Given the description of an element on the screen output the (x, y) to click on. 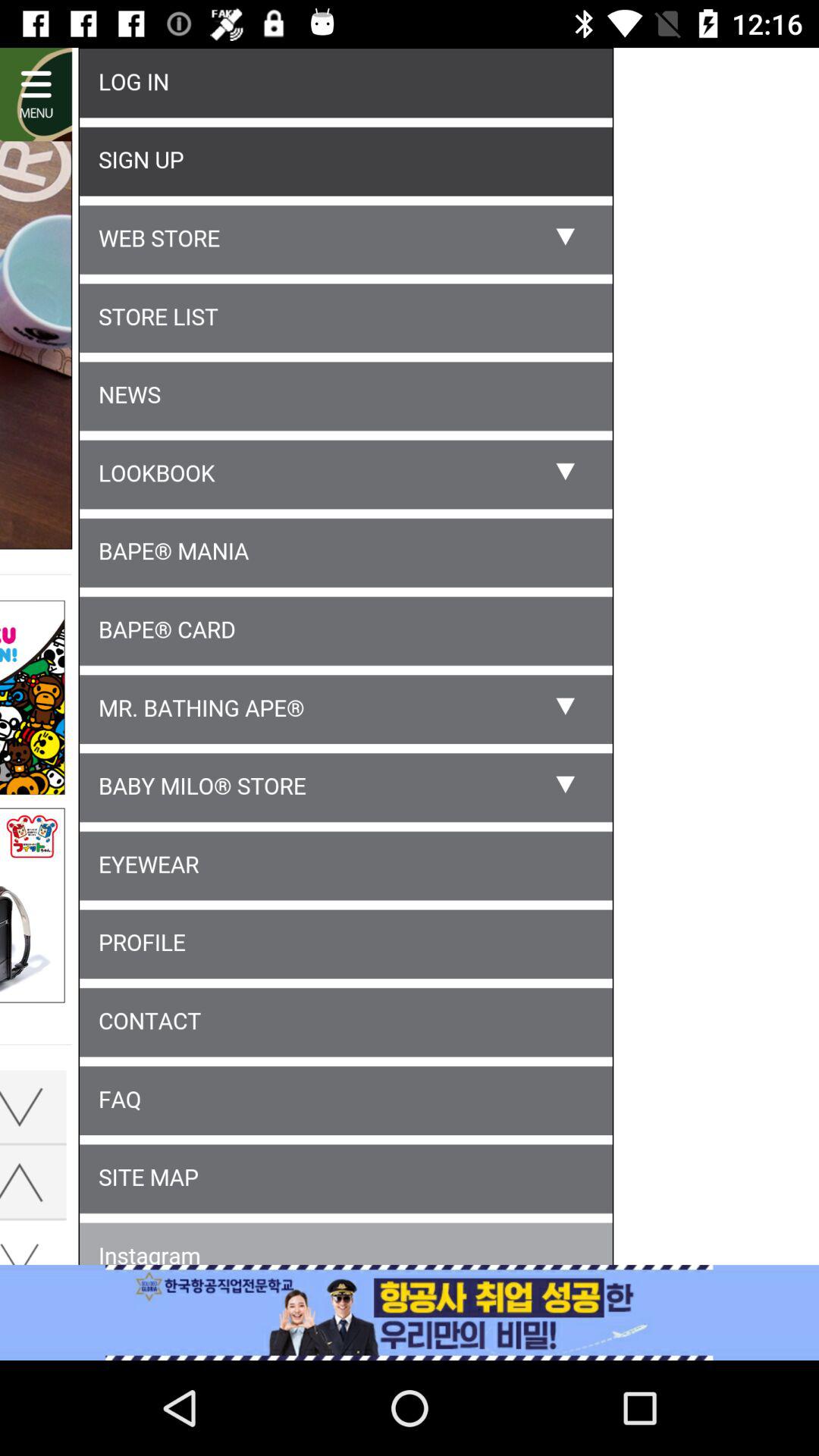
menu page (409, 658)
